Given the description of an element on the screen output the (x, y) to click on. 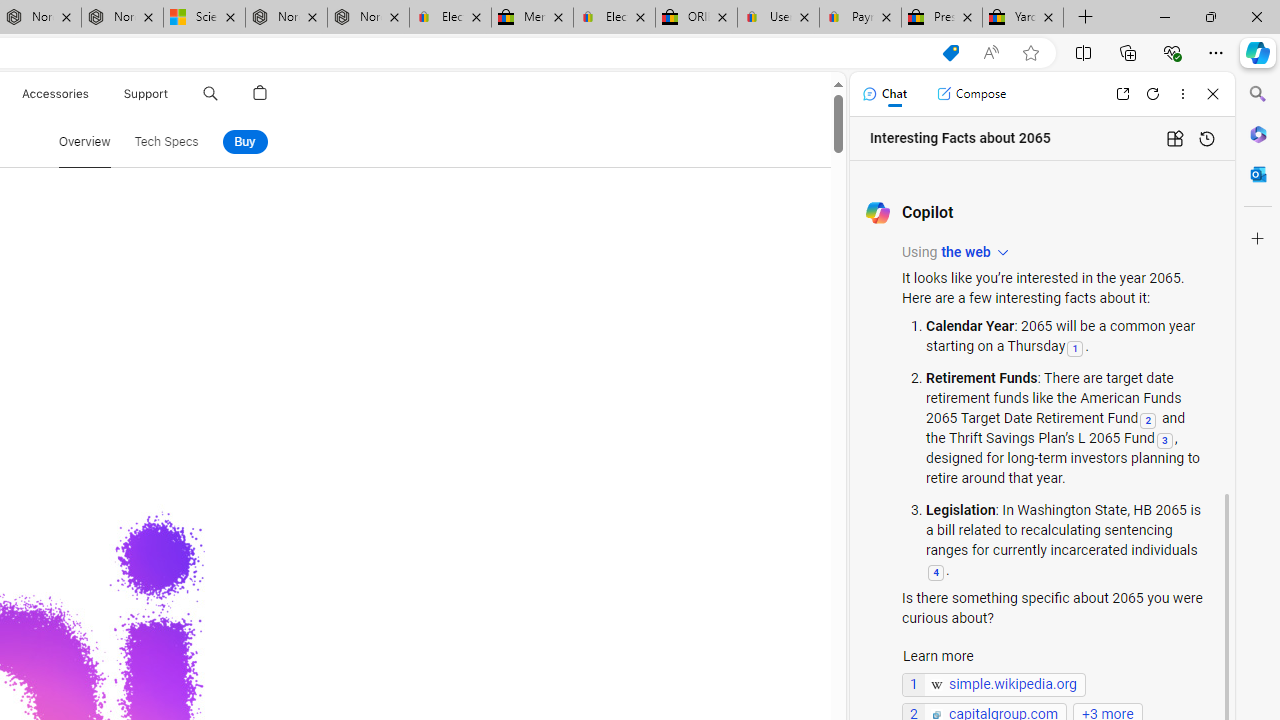
Compose (971, 93)
Support (146, 93)
Nordace - FAQ (368, 17)
Tech Specs (166, 141)
Tech Specs (166, 141)
